Given the description of an element on the screen output the (x, y) to click on. 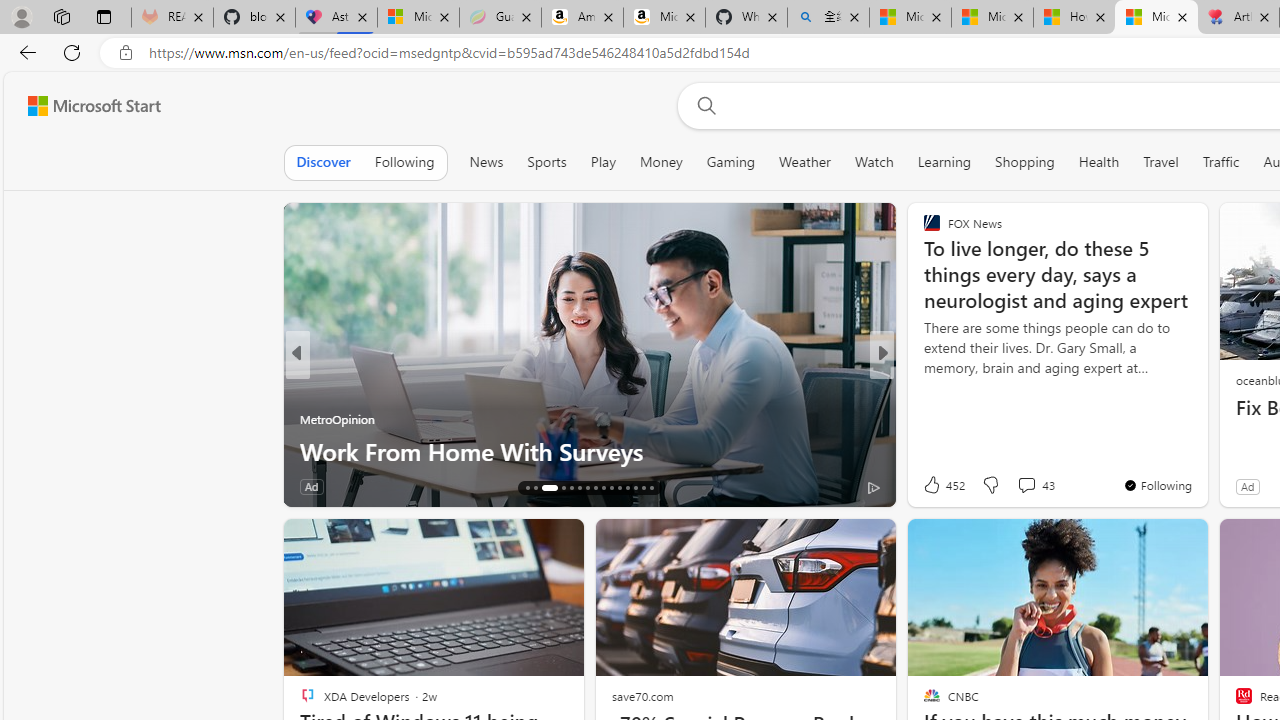
AutomationID: tab-30 (650, 487)
save70.com (642, 696)
Skip to content (86, 105)
323 Like (936, 486)
452 Like (942, 484)
Gaming (730, 161)
AutomationID: tab-24 (603, 487)
2k Like (933, 486)
Following (404, 162)
AutomationID: tab-26 (619, 487)
Start the conversation (1013, 486)
6 Like (930, 486)
Watch (874, 162)
View comments 43 Comment (1035, 484)
View comments 7 Comment (1026, 486)
